Given the description of an element on the screen output the (x, y) to click on. 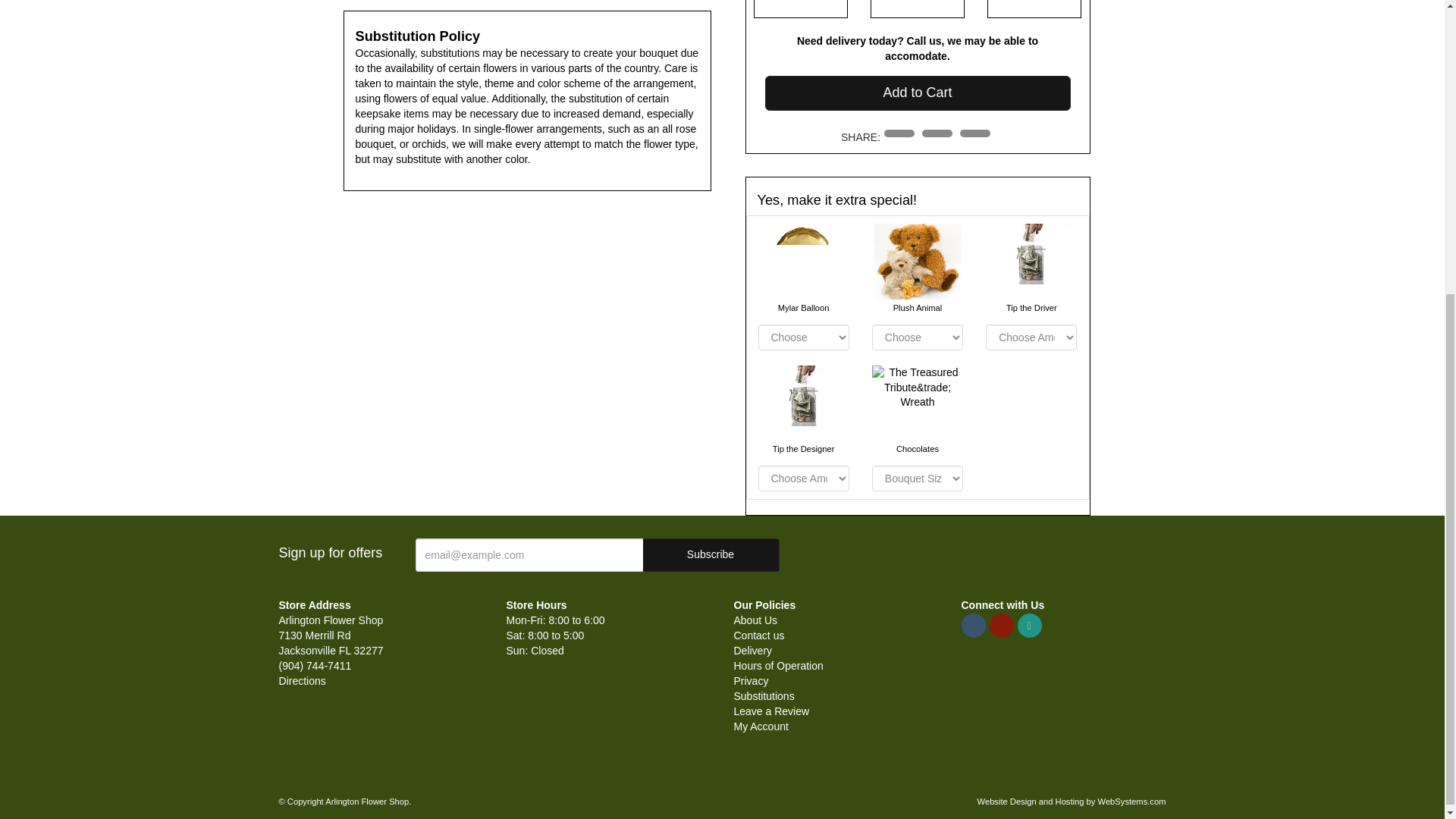
Add to Cart (917, 93)
Subscribe (710, 554)
